Given the description of an element on the screen output the (x, y) to click on. 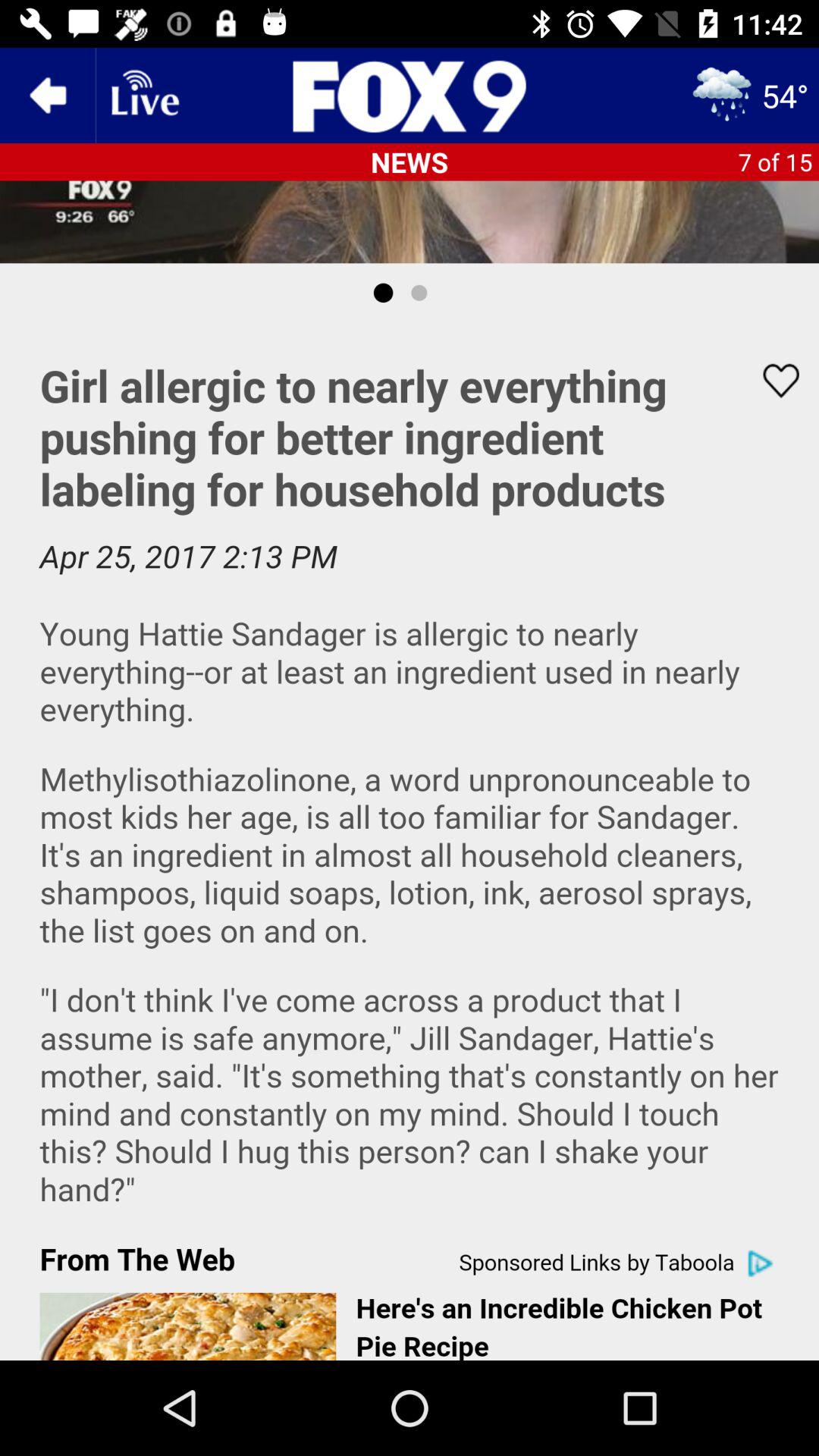
favorites (771, 380)
